Given the description of an element on the screen output the (x, y) to click on. 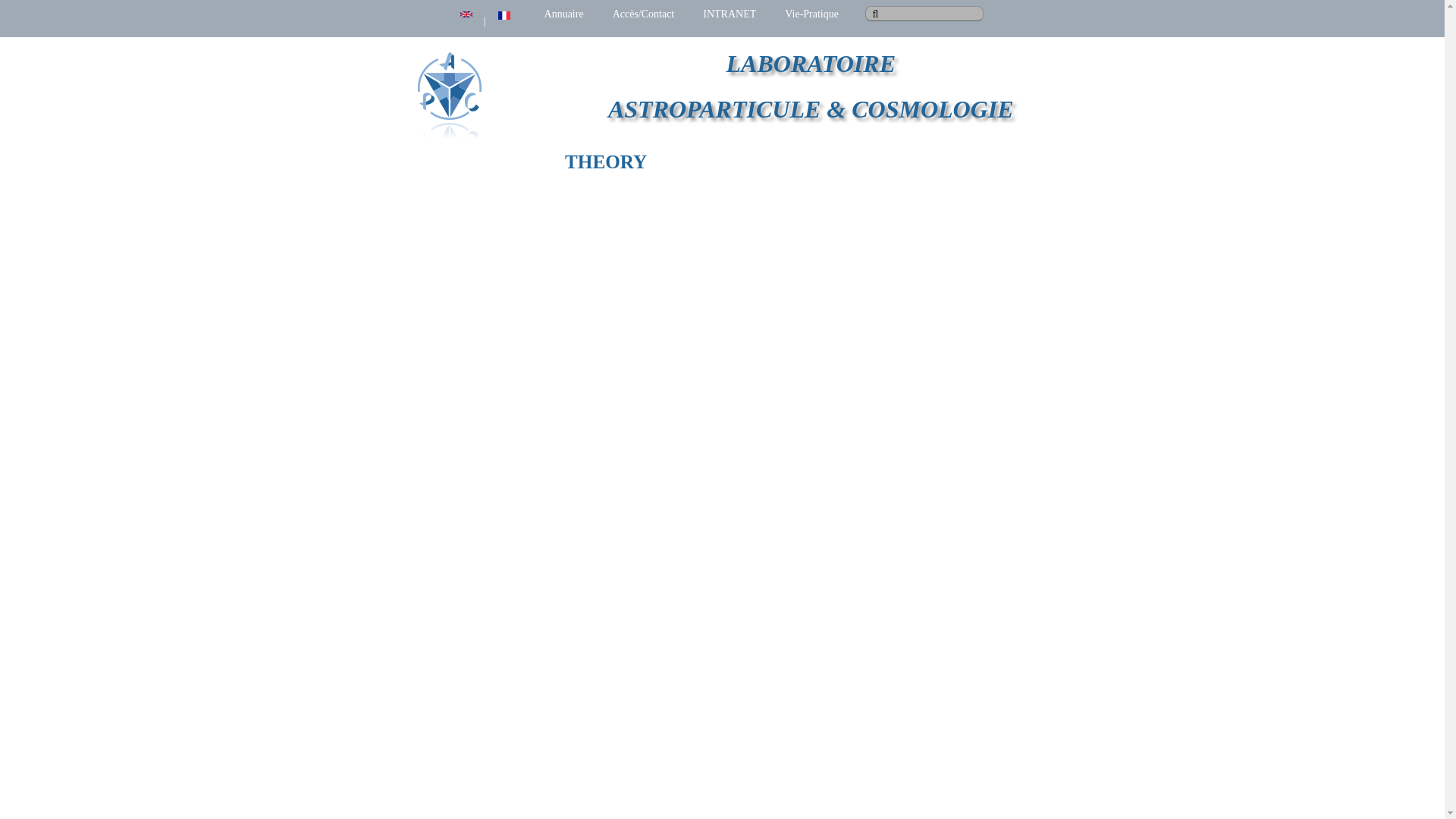
Enter the terms you wish to search for. (924, 13)
Home page (810, 62)
LABORATOIRE (810, 62)
INTRANET (729, 13)
Vie-Pratique (811, 13)
English (466, 14)
Annuaire (563, 13)
